Given the description of an element on the screen output the (x, y) to click on. 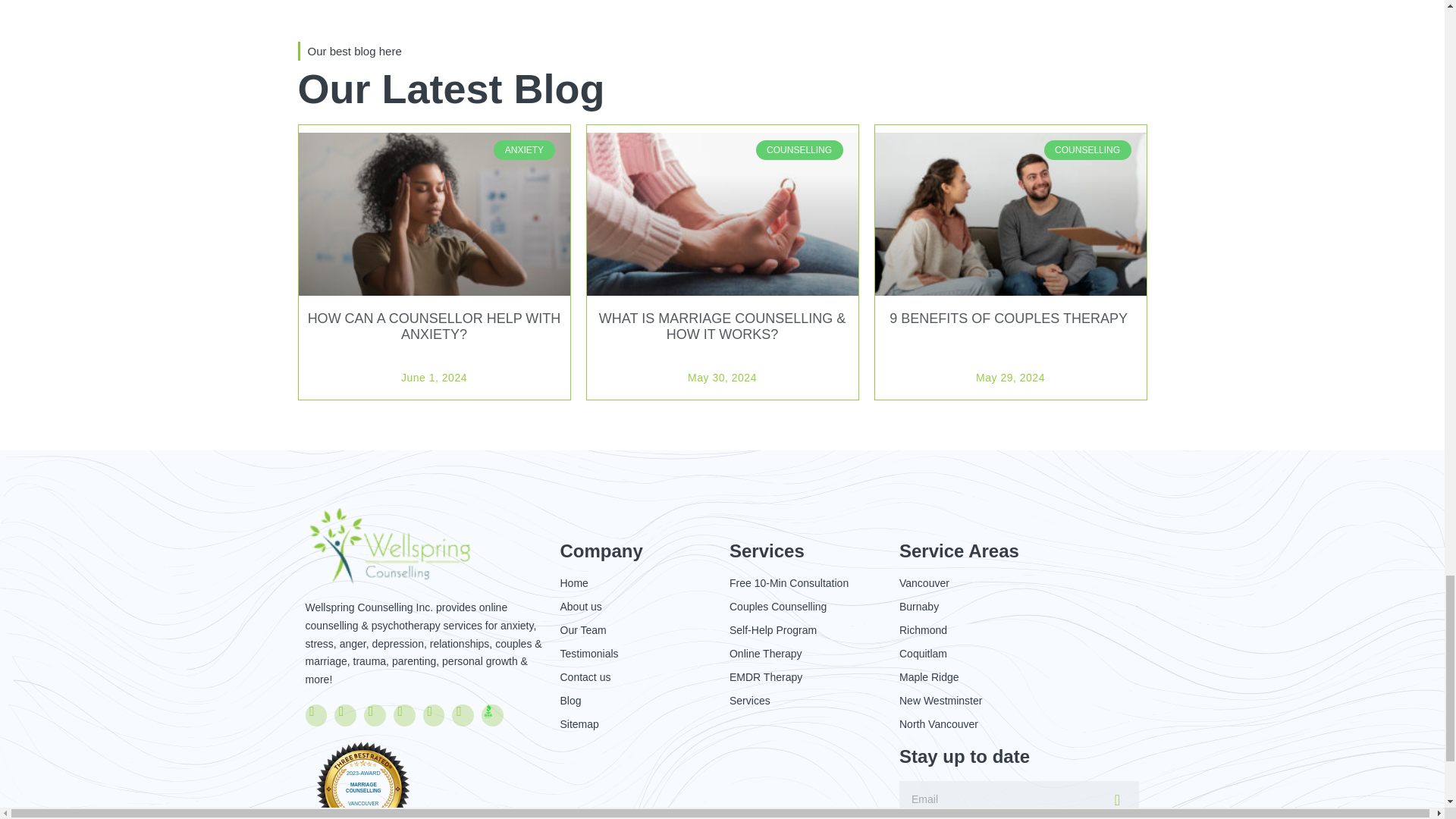
Start With Trust (488, 711)
